Given the description of an element on the screen output the (x, y) to click on. 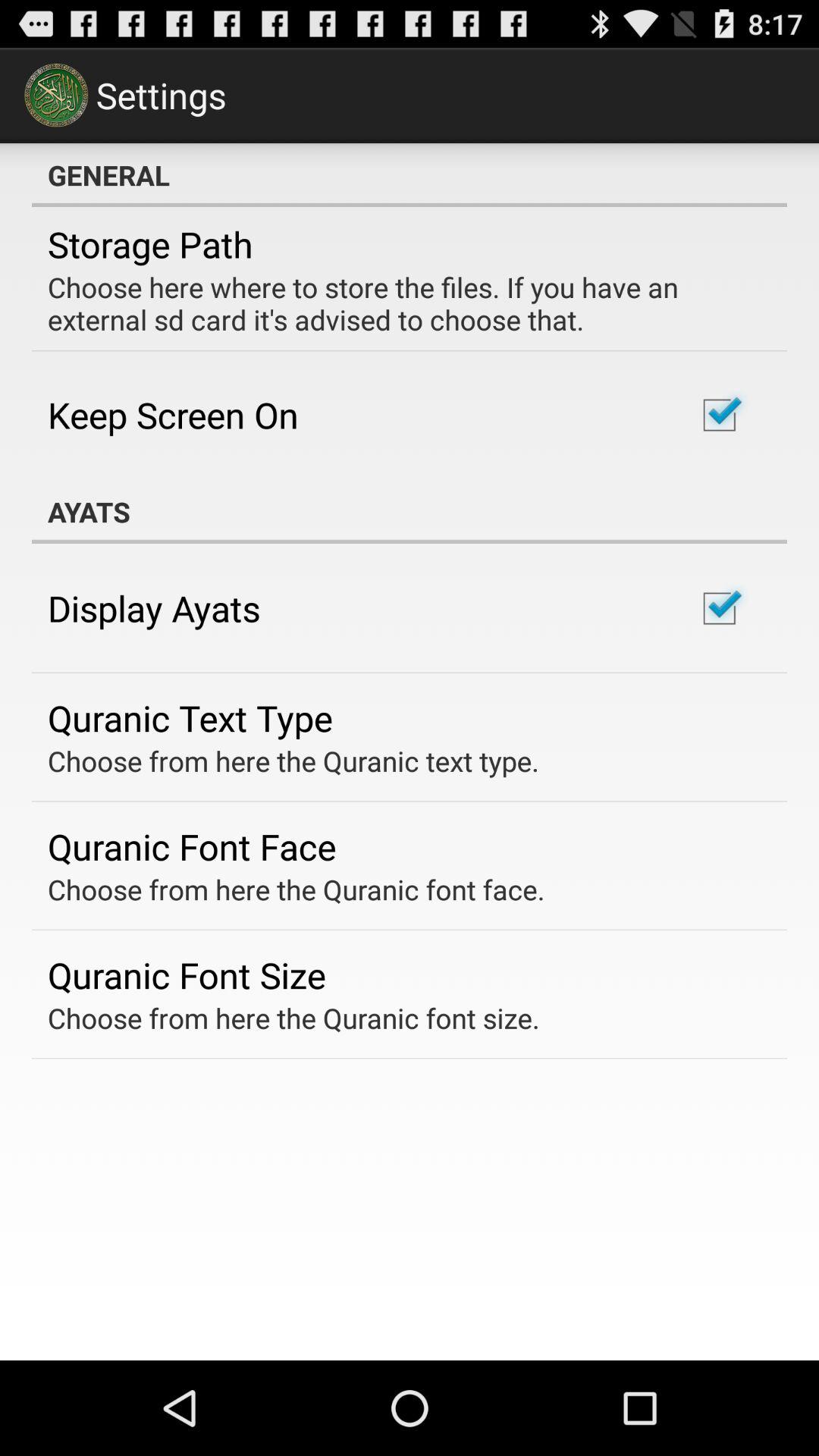
scroll to general app (409, 175)
